Given the description of an element on the screen output the (x, y) to click on. 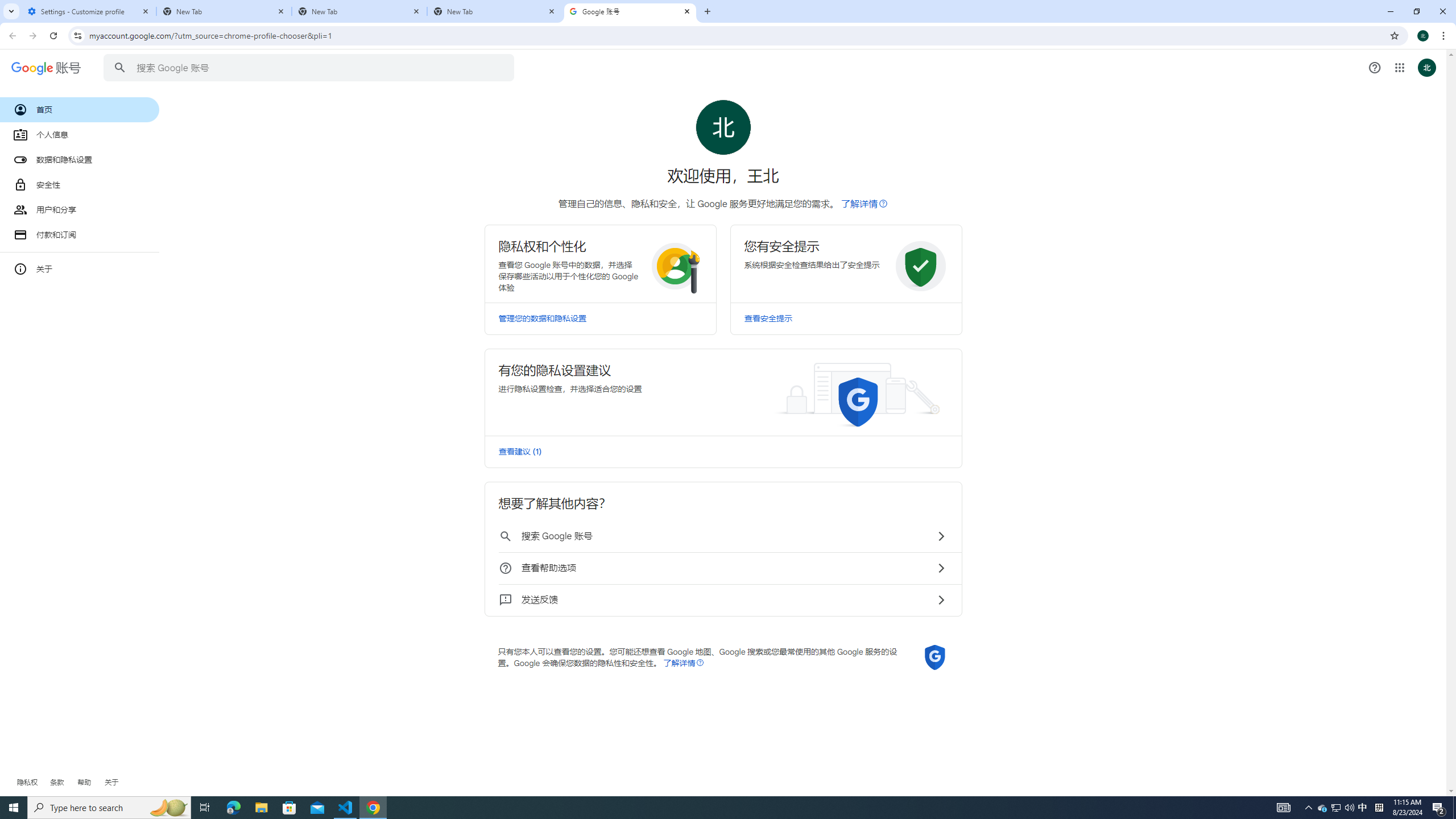
Reload (52, 35)
Chrome (1445, 35)
New Tab (359, 11)
Settings - Customize profile (88, 11)
View site information (77, 35)
System (6, 6)
